Given the description of an element on the screen output the (x, y) to click on. 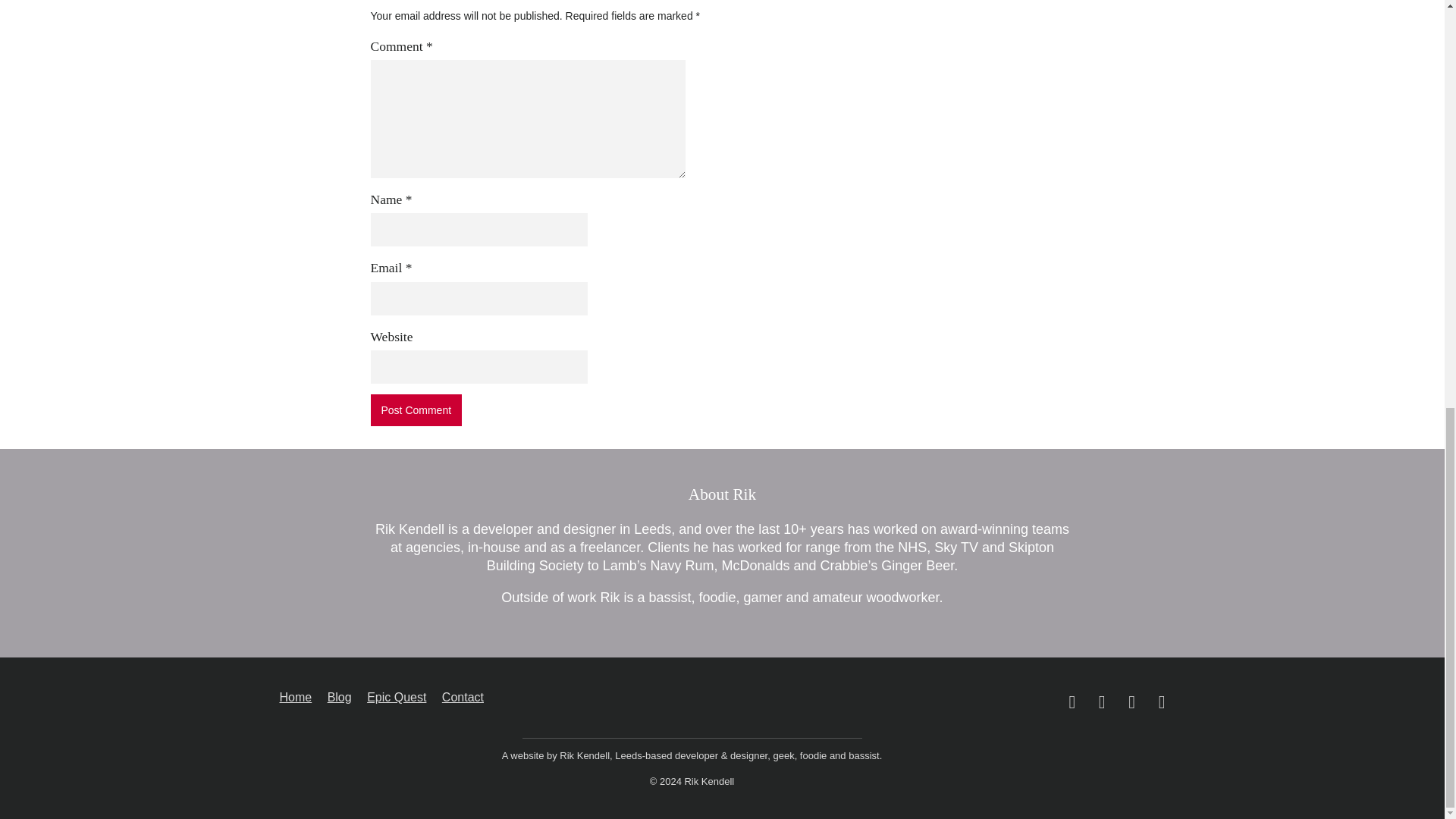
Epic Quest (396, 697)
Post Comment (415, 409)
Contact (462, 697)
Post Comment (415, 409)
Blog (339, 697)
Home (295, 697)
